Given the description of an element on the screen output the (x, y) to click on. 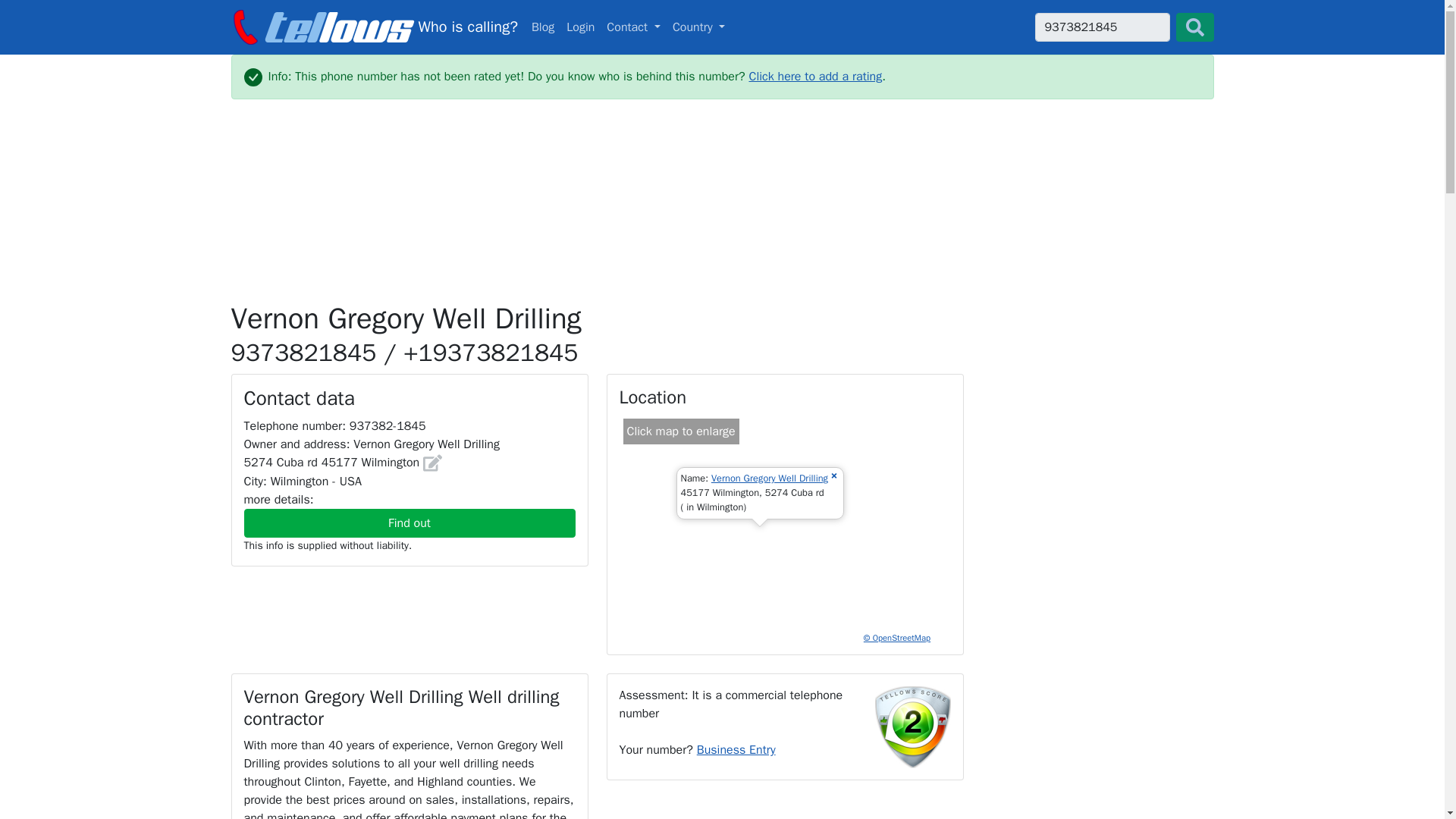
Contact (632, 27)
Country (699, 27)
Click here to add a rating (815, 76)
Blog (542, 27)
Blog (722, 26)
Business Entry (542, 27)
tellows - the community for calls, phone spam and complaints (736, 749)
9373821845 (373, 26)
Vernon Gregory Well Drilling (1101, 27)
Login (769, 478)
Who is calling? (579, 27)
Find out (373, 26)
